Given the description of an element on the screen output the (x, y) to click on. 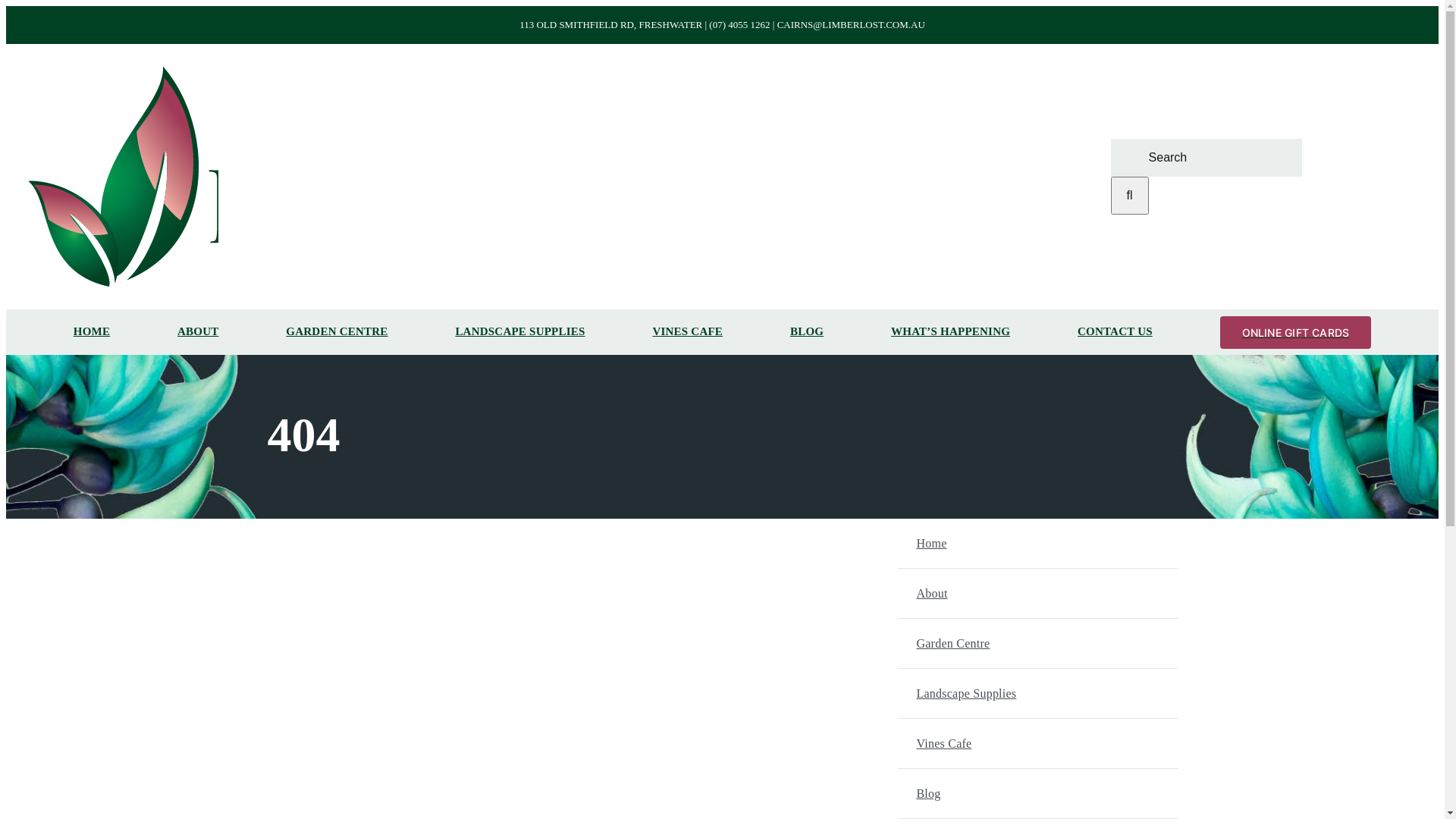
BLOG Element type: text (806, 332)
Garden Centre Element type: text (1055, 643)
ONLINE GIFT CARDS Element type: text (1295, 331)
VINES CAFE Element type: text (687, 332)
GARDEN CENTRE Element type: text (336, 332)
Skip to content Element type: text (5, 5)
Landscape Supplies Element type: text (1055, 693)
Home Element type: text (1055, 542)
About Element type: text (1055, 593)
CONTACT US Element type: text (1114, 332)
HOME Element type: text (91, 332)
LANDSCAPE SUPPLIES Element type: text (519, 332)
Blog Element type: text (1055, 793)
ABOUT Element type: text (197, 332)
Vines Cafe Element type: text (1055, 743)
